Given the description of an element on the screen output the (x, y) to click on. 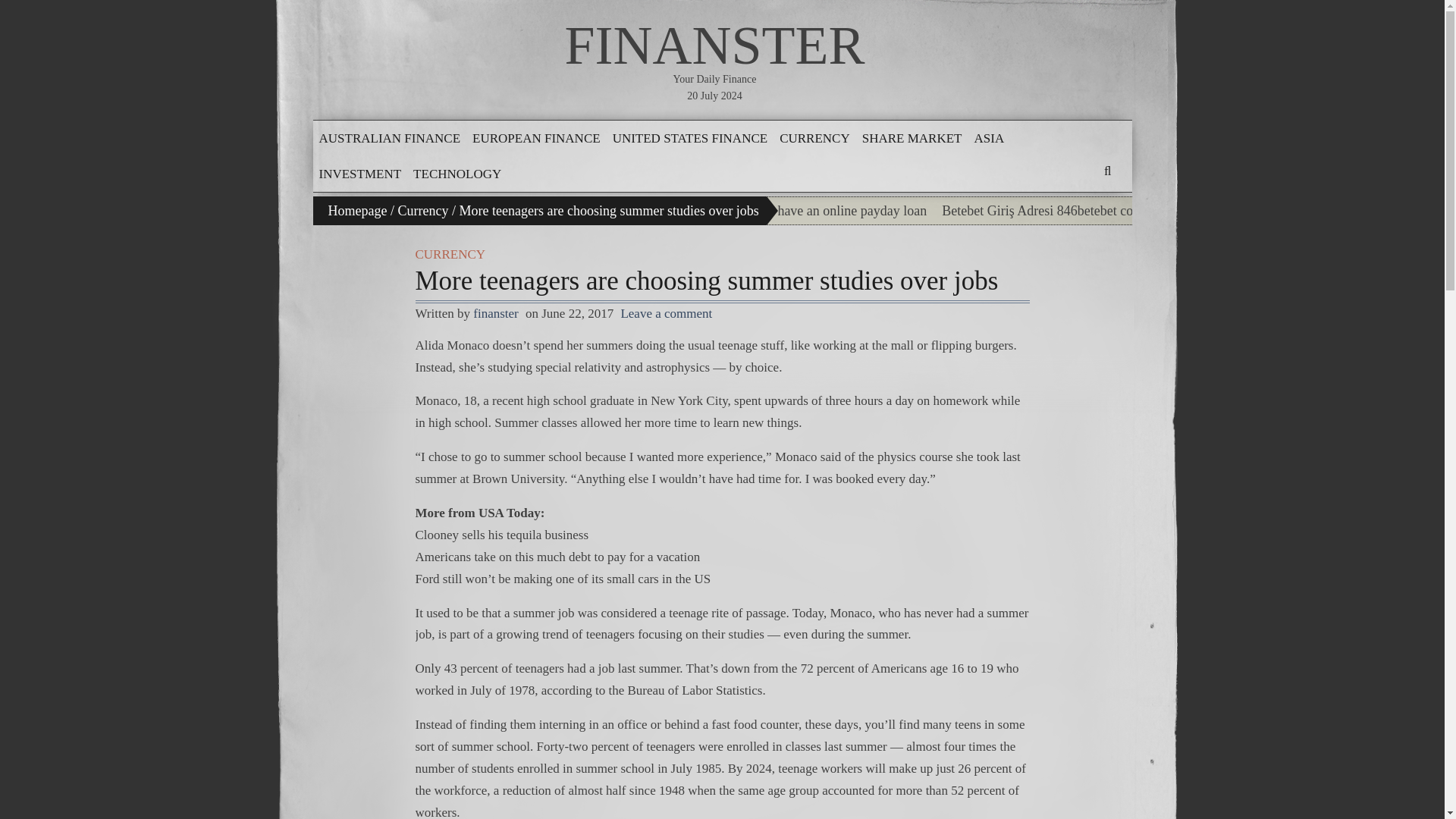
ASIA (989, 137)
Homepage (357, 210)
Currency (422, 210)
Click for Home (714, 45)
TECHNOLOGY (456, 173)
FINANSTER (714, 45)
EUROPEAN FINANCE (535, 137)
INVESTMENT (359, 173)
CURRENCY (814, 137)
AUSTRALIAN FINANCE (389, 137)
UNITED STATES FINANCE (690, 137)
SHARE MARKET (911, 137)
